Given the description of an element on the screen output the (x, y) to click on. 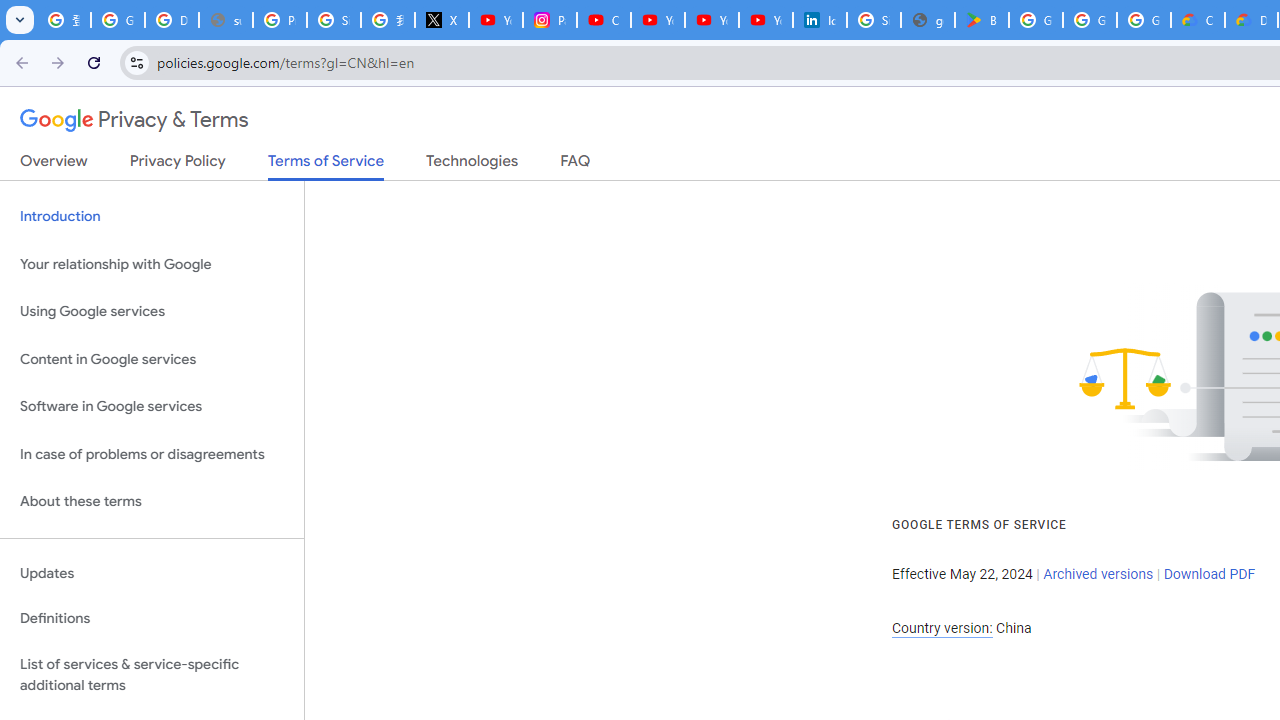
Customer Care | Google Cloud (1197, 20)
Your relationship with Google (152, 263)
Google Workspace - Specific Terms (1144, 20)
YouTube Culture & Trends - YouTube Top 10, 2021 (765, 20)
Software in Google services (152, 407)
Definitions (152, 619)
YouTube Content Monetization Policies - How YouTube Works (495, 20)
Using Google services (152, 312)
